Given the description of an element on the screen output the (x, y) to click on. 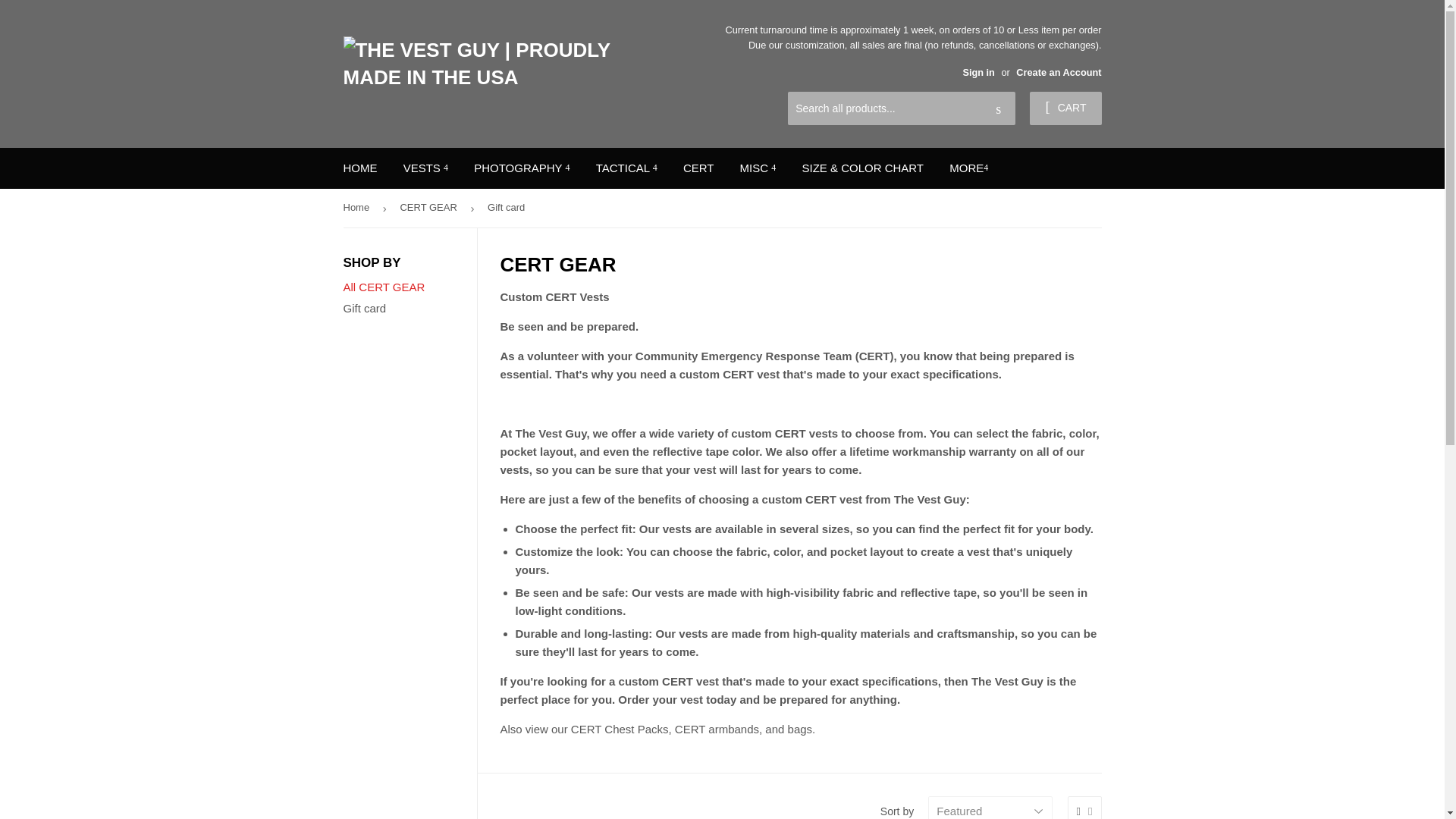
Create an Account (1058, 71)
List view (1089, 811)
CART (1064, 108)
Sign in (978, 71)
Search (997, 109)
Grid view (1078, 811)
Back to the frontpage (358, 208)
